Given the description of an element on the screen output the (x, y) to click on. 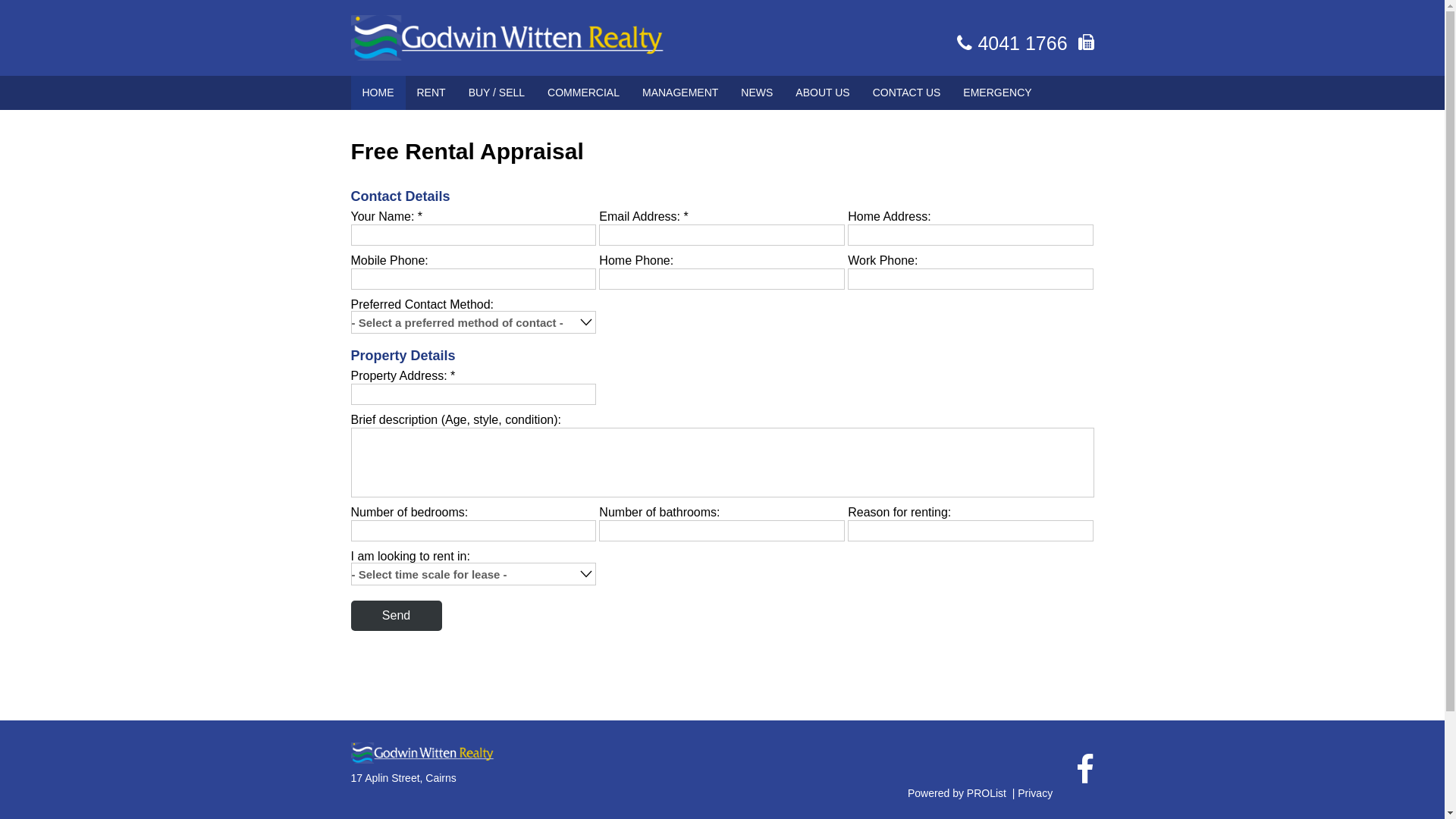
Send Element type: text (395, 615)
Powered by PROList Element type: text (956, 792)
ABOUT US Element type: text (822, 92)
BUY / SELL Element type: text (496, 92)
HOME Element type: text (377, 92)
Privacy Element type: text (1034, 792)
EMERGENCY Element type: text (996, 92)
RENT Element type: text (430, 92)
NEWS Element type: text (756, 92)
MANAGEMENT Element type: text (679, 92)
CONTACT US Element type: text (906, 92)
COMMERCIAL Element type: text (583, 92)
